Given the description of an element on the screen output the (x, y) to click on. 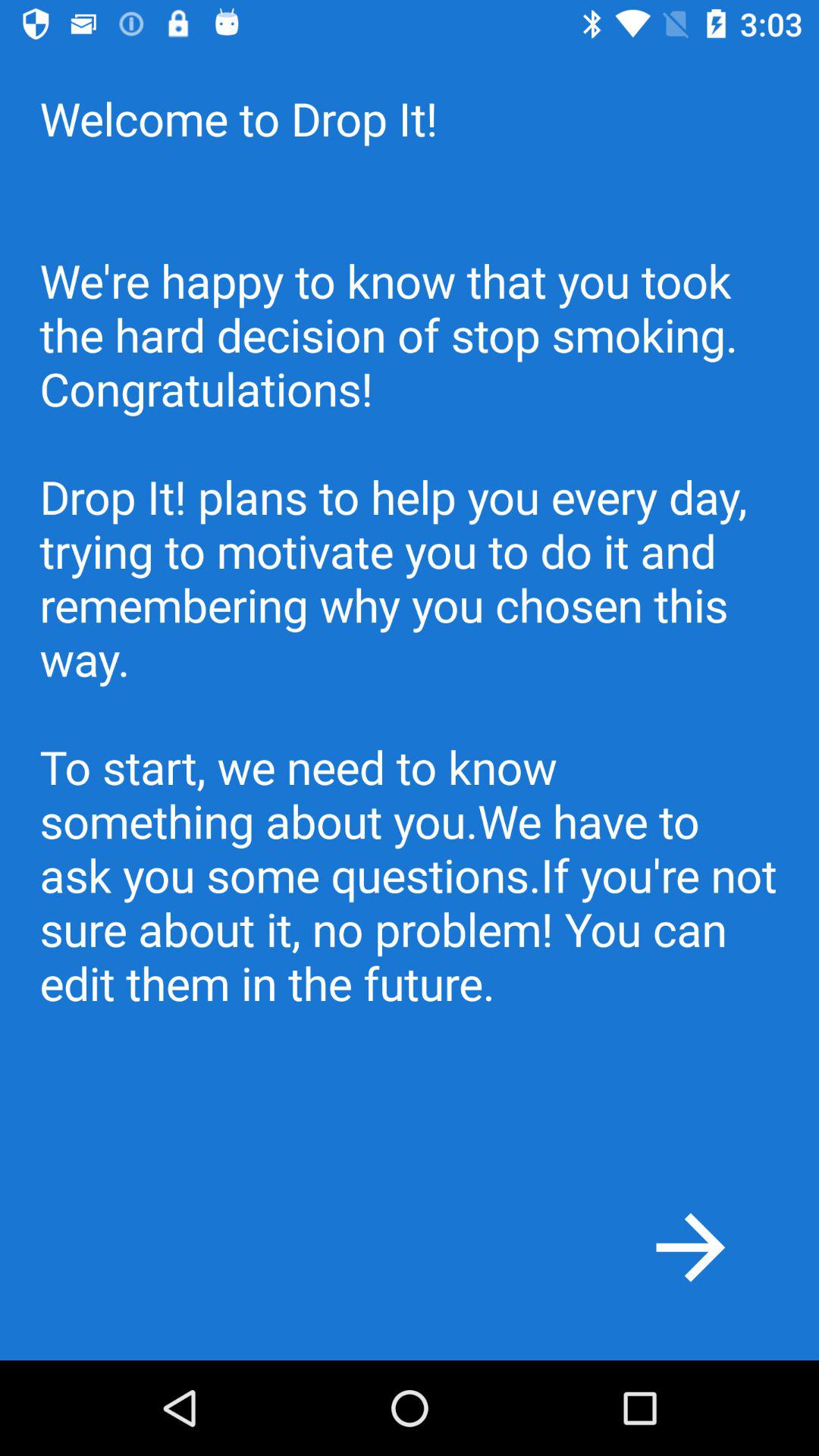
select icon below the welcome to drop (690, 1247)
